Given the description of an element on the screen output the (x, y) to click on. 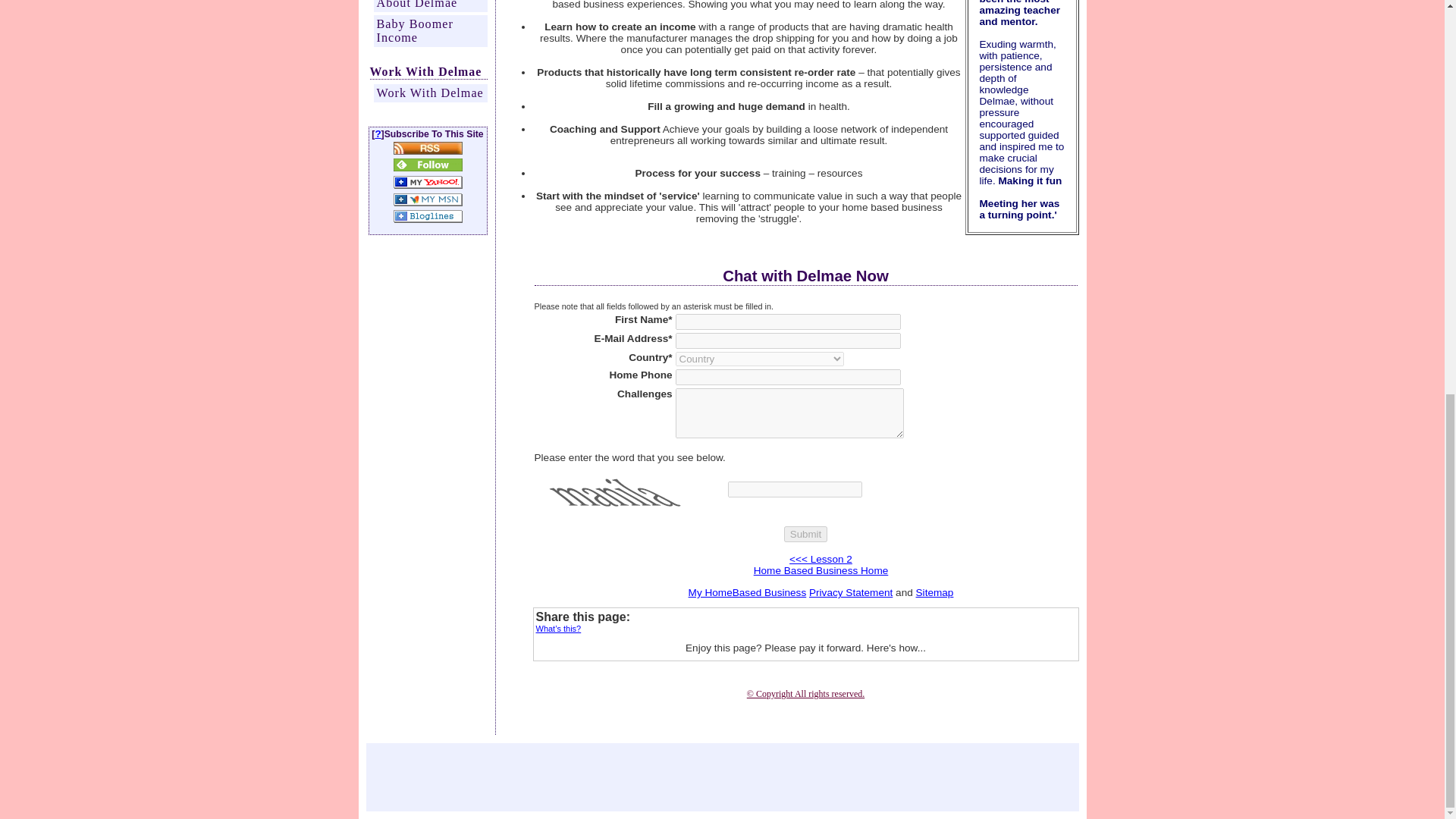
Privacy Statement (850, 592)
Submit (805, 534)
Home Based Business Home (821, 570)
Work With Delmae (429, 93)
About Delmae (429, 6)
My HomeBased Business (747, 592)
Submit (805, 534)
Baby Boomer Income (429, 30)
Sitemap (934, 592)
Don't Envy Me!  Join me - Let's Talk!! (805, 693)
